Given the description of an element on the screen output the (x, y) to click on. 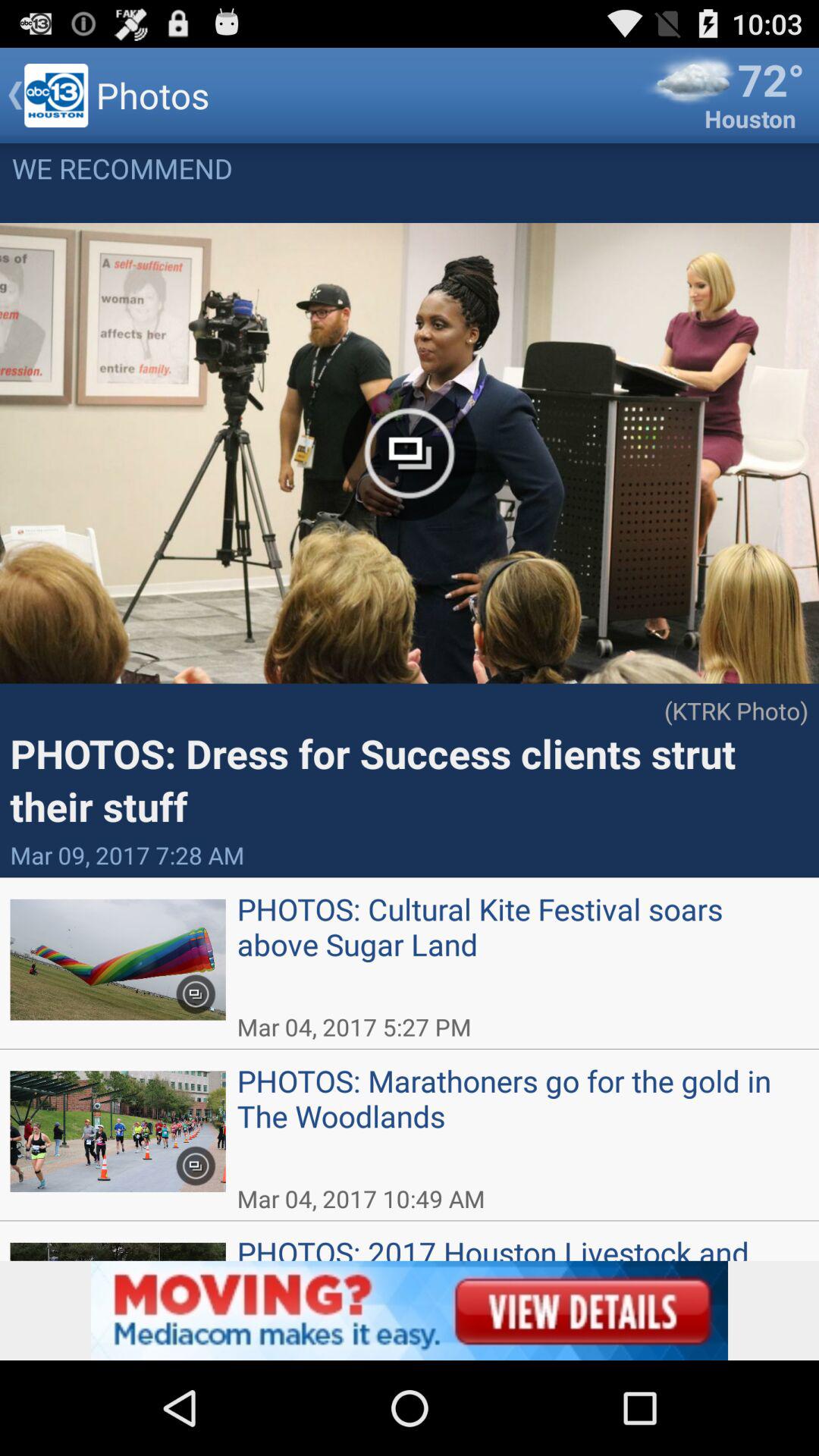
know about the advertisement (409, 1310)
